Given the description of an element on the screen output the (x, y) to click on. 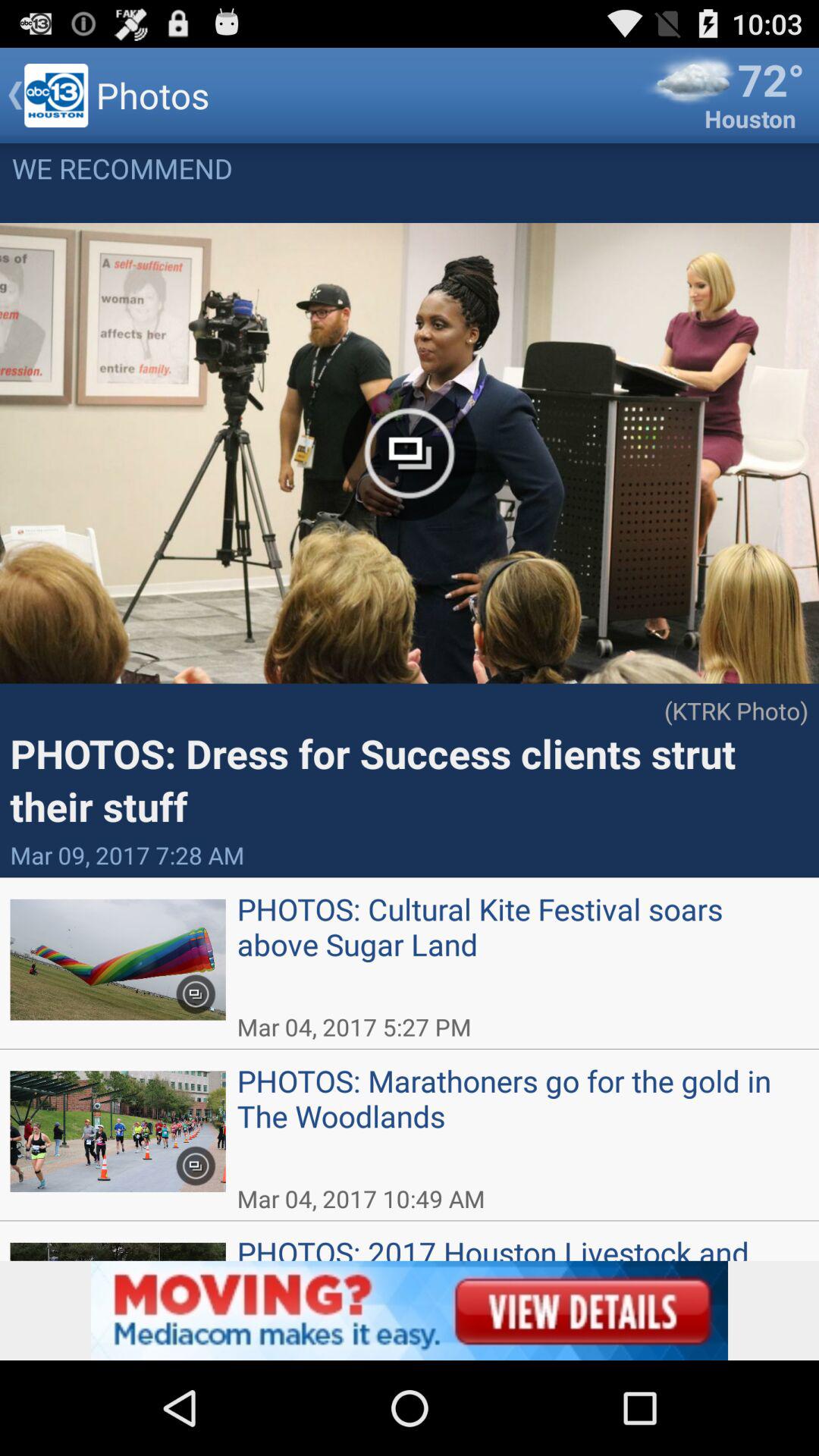
know about the advertisement (409, 1310)
